Given the description of an element on the screen output the (x, y) to click on. 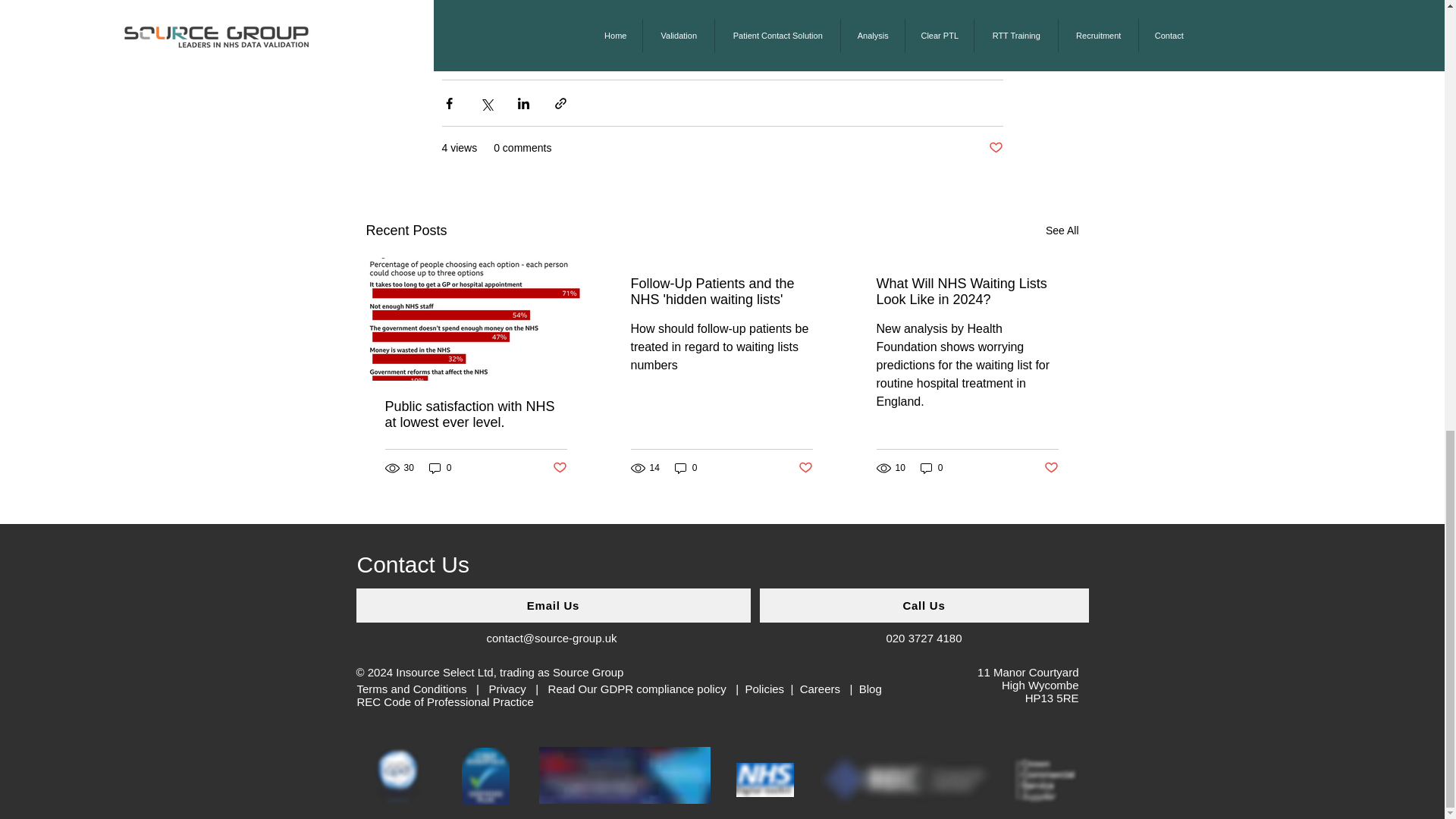
0 (931, 467)
Terms and Conditions (410, 688)
Post not marked as liked (558, 467)
CorporateMember-light.png (906, 779)
See All (1061, 230)
Post not marked as liked (1050, 467)
contact us today (806, 32)
Call Us (924, 605)
0 (685, 467)
Public satisfaction with NHS at lowest ever level. (476, 414)
Follow-Up Patients and the NHS 'hidden waiting lists' (721, 291)
Privacy (506, 688)
Post not marked as liked (995, 148)
Post not marked as liked (804, 467)
0 (440, 467)
